Given the description of an element on the screen output the (x, y) to click on. 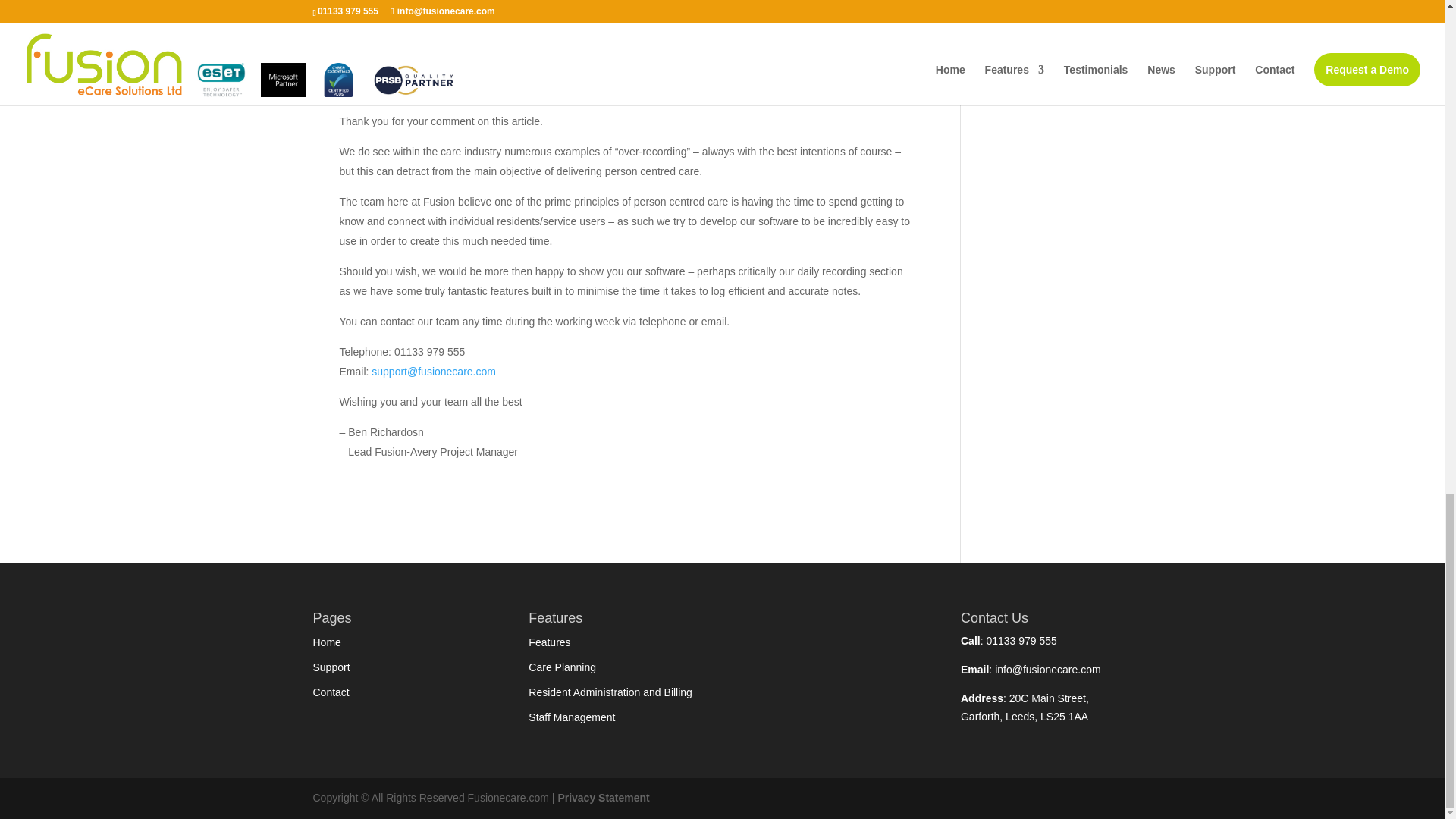
Features (549, 642)
Home (326, 642)
Resident Administration and Billing (610, 692)
Support (331, 666)
Contact (331, 692)
Staff Management (571, 717)
Care Planning (561, 666)
Privacy Statement (603, 797)
